Given the description of an element on the screen output the (x, y) to click on. 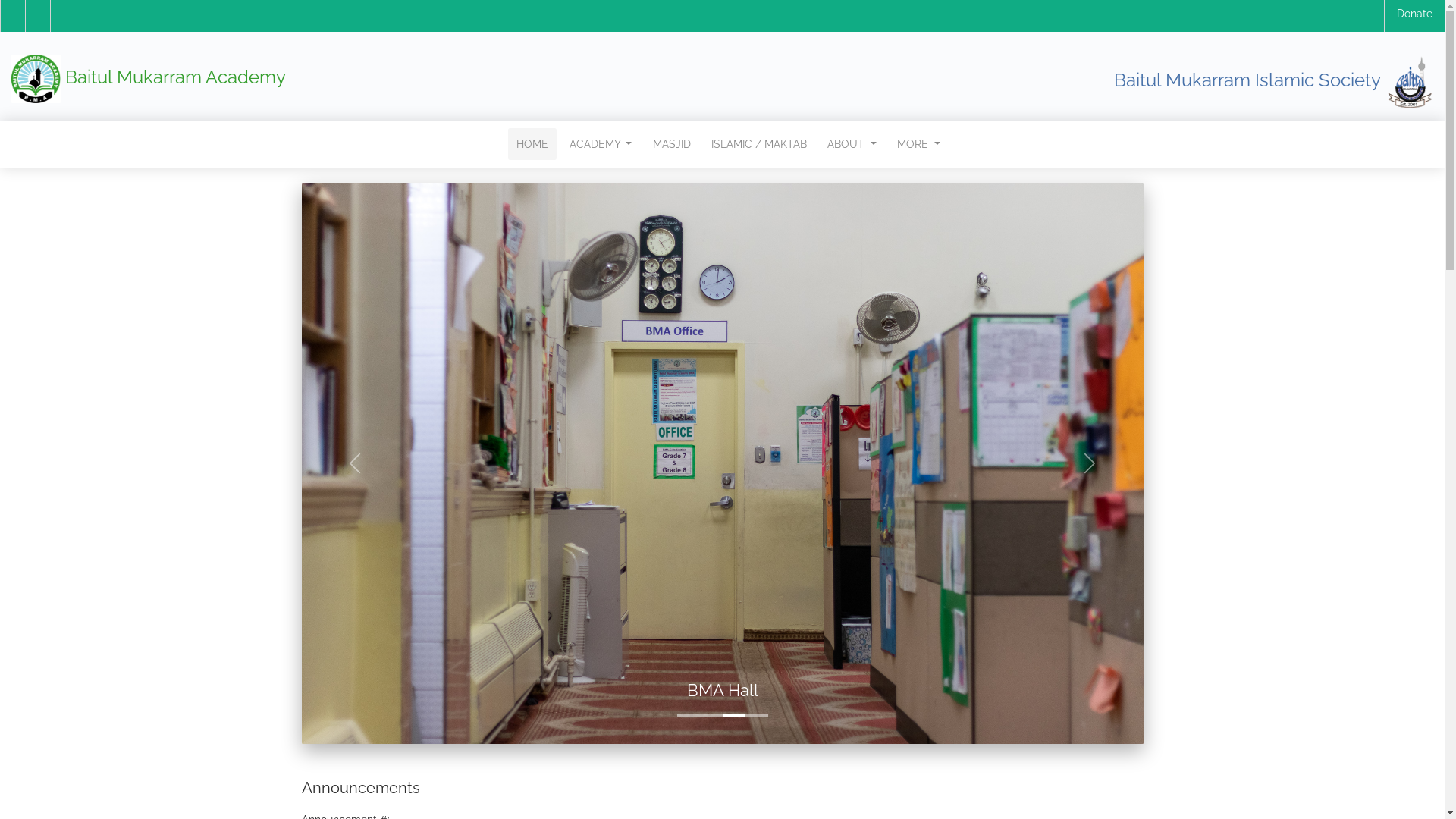
Donate Element type: text (1414, 14)
ISLAMIC / MAKTAB Element type: text (758, 144)
1 Element type: text (314, 759)
MORE Element type: text (918, 144)
ACADEMY Element type: text (600, 144)
HOME Element type: text (532, 144)
ABOUT Element type: text (851, 144)
MASJID Element type: text (670, 144)
